Given the description of an element on the screen output the (x, y) to click on. 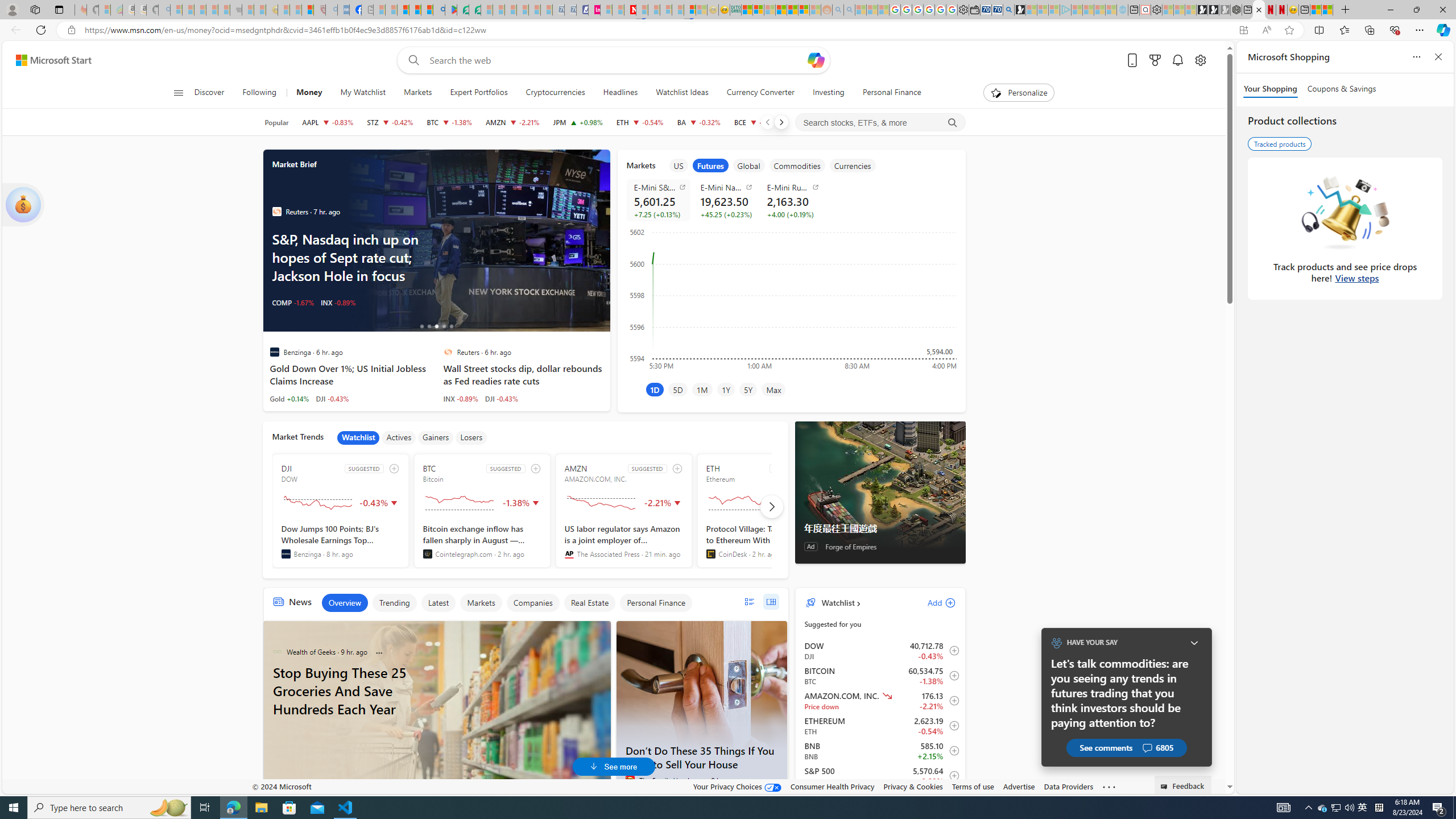
E-Mini S&P 500 Futures (660, 187)
Data Providers (1068, 785)
My Watchlist (362, 92)
item5 (852, 164)
Max (773, 389)
Wallet (974, 9)
Latest (437, 602)
